Given the description of an element on the screen output the (x, y) to click on. 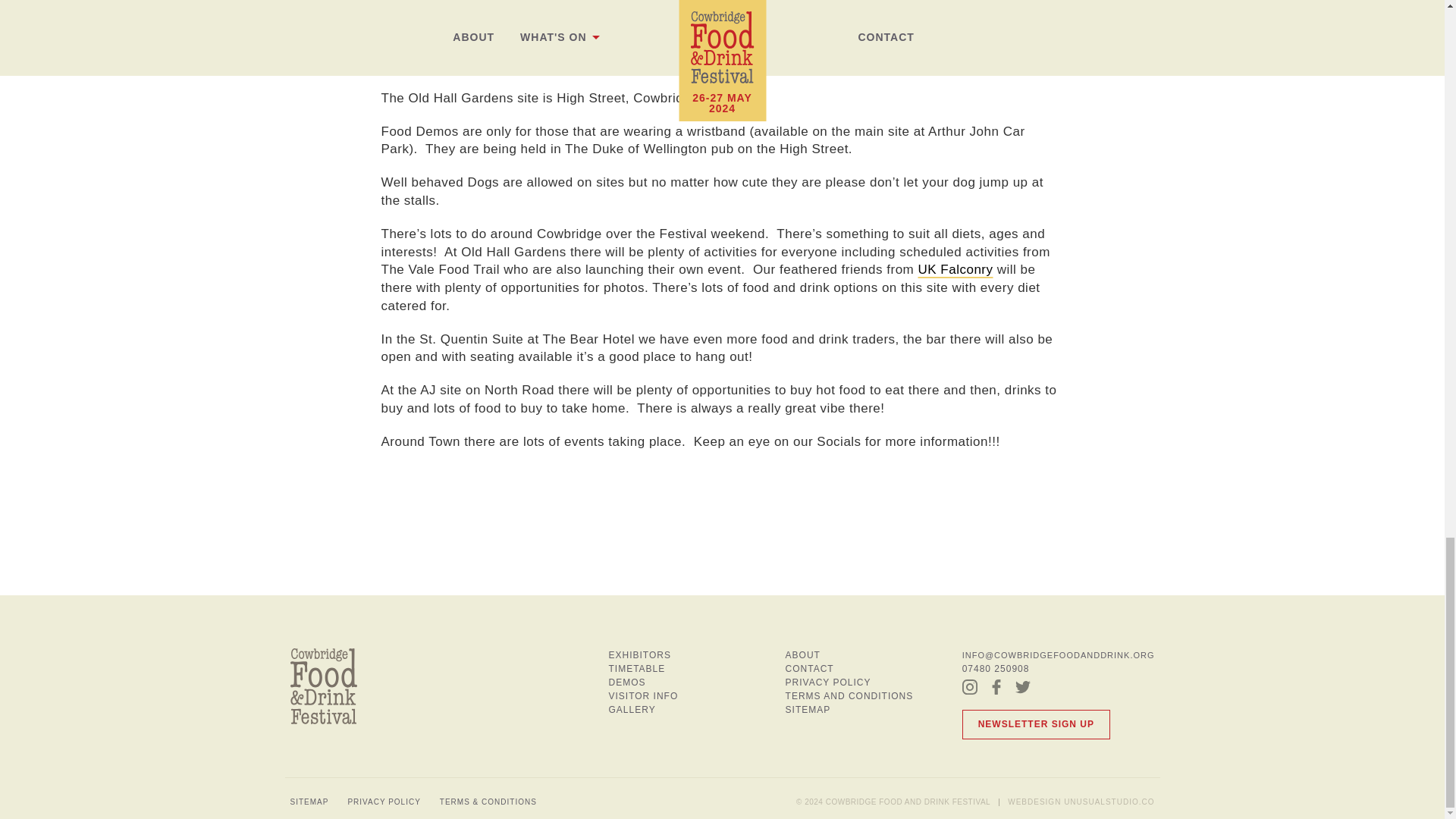
EXHIBITORS (638, 655)
GALLERY (631, 709)
ABOUT (803, 655)
NEWSLETTER SIGN UP (1035, 724)
PRIVACY POLICY (828, 682)
WEBDESIGN UNUSUALSTUDIO.CO (1080, 801)
SITEMAP (309, 801)
Cowbridge Comprehensive School (698, 21)
PRIVACY POLICY (383, 801)
TIMETABLE (636, 668)
